Given the description of an element on the screen output the (x, y) to click on. 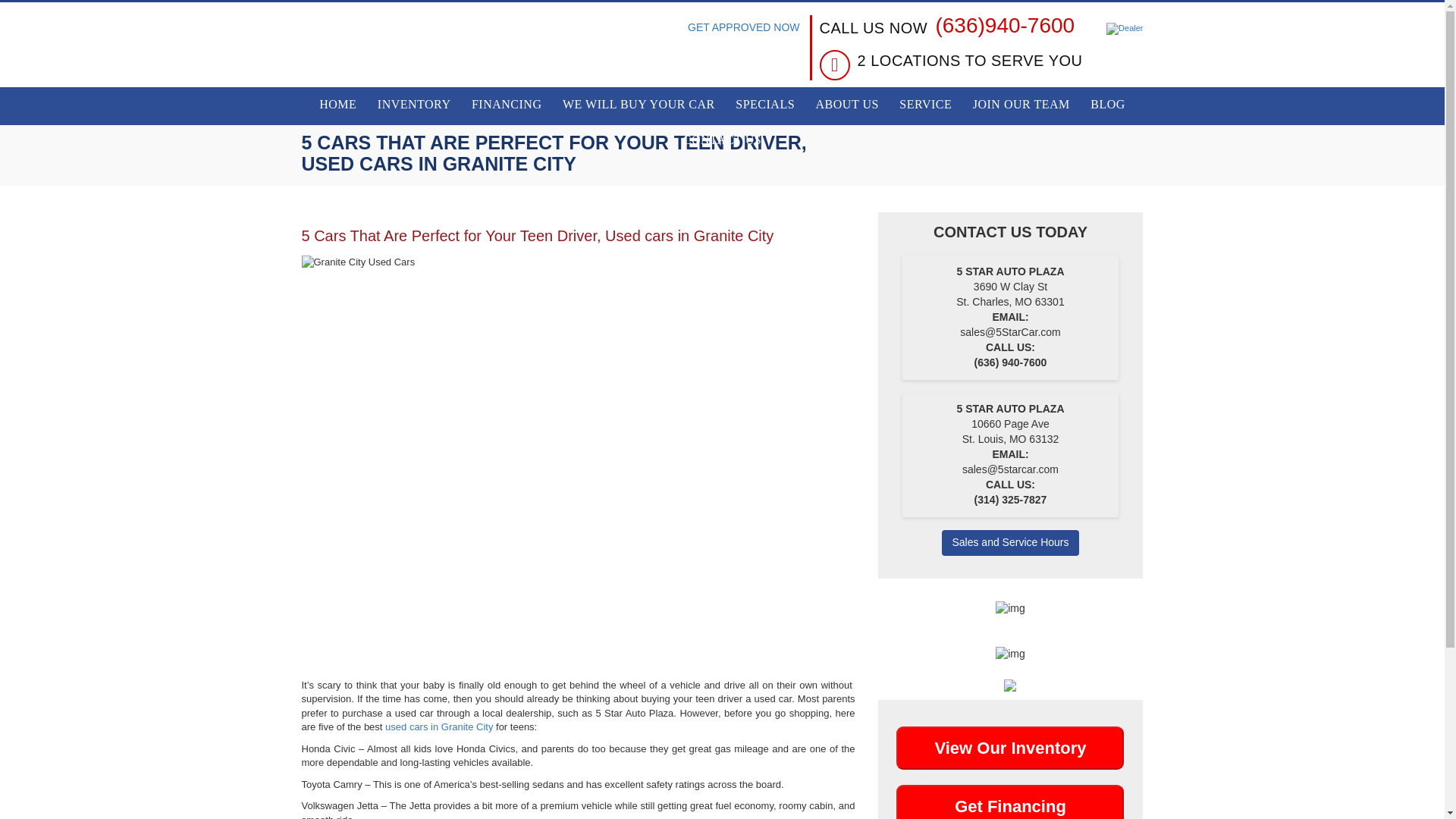
JOIN OUR TEAM (1020, 104)
5 Star Auto Plaza (408, 50)
SPECIALS (764, 104)
INVENTORY (414, 104)
CONTACT US (722, 140)
HOME (337, 104)
WE WILL BUY YOUR CAR (638, 104)
BLOG (1107, 104)
FINANCING (507, 104)
ABOUT US (847, 104)
